Given the description of an element on the screen output the (x, y) to click on. 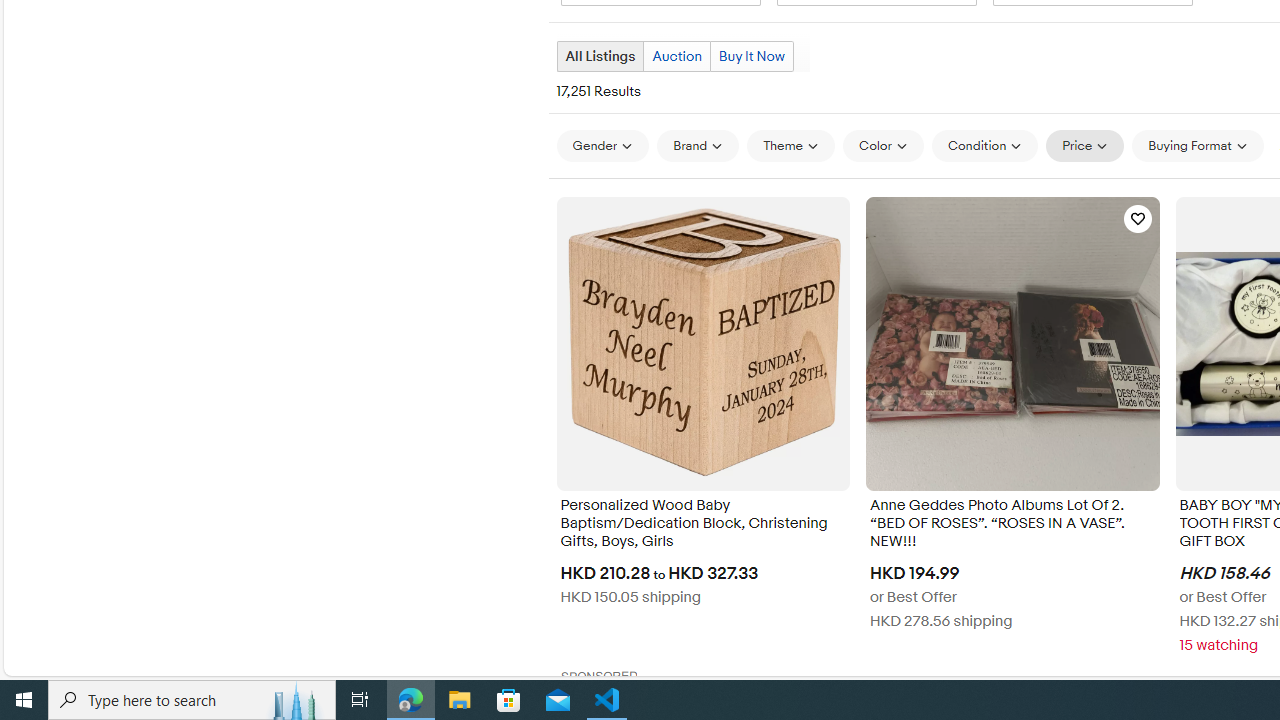
Theme (791, 146)
Color (883, 145)
Auction (676, 56)
Gender (602, 145)
Price (1085, 146)
Theme (791, 145)
Buying Format (1197, 146)
